Given the description of an element on the screen output the (x, y) to click on. 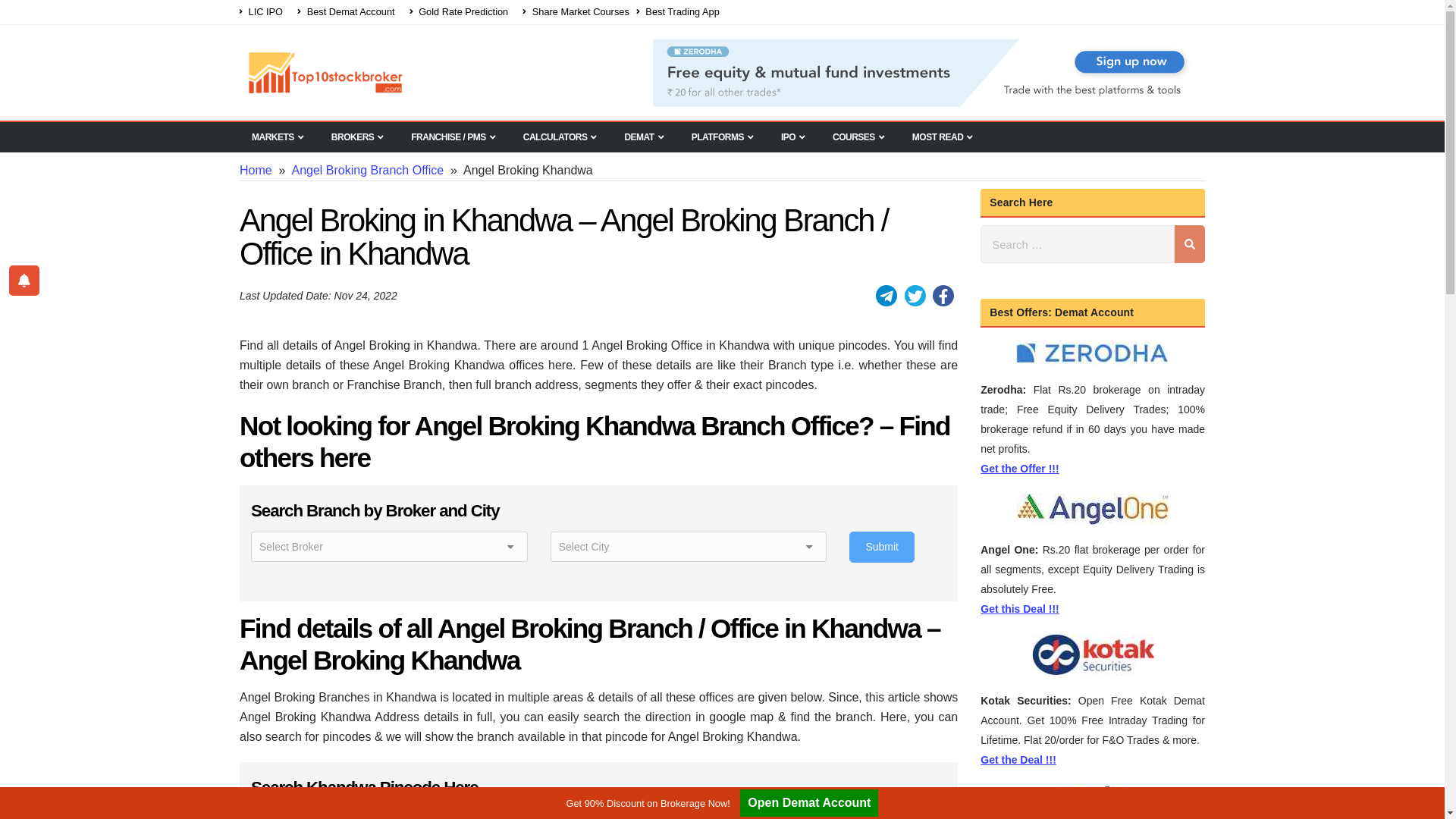
Best Demat Account (346, 13)
LIC IPO (264, 13)
Gold Rate Prediction (459, 13)
Twitter (915, 295)
Facebook (943, 295)
Best Demat Account (346, 13)
Best Trading App (681, 13)
MARKETS (277, 136)
Best Trading App (681, 13)
LIC IPO (264, 13)
BROKERS (357, 136)
Telegram (886, 295)
Gold Rate Prediction (459, 13)
Share Market Courses (576, 13)
Share Market Courses (576, 13)
